Given the description of an element on the screen output the (x, y) to click on. 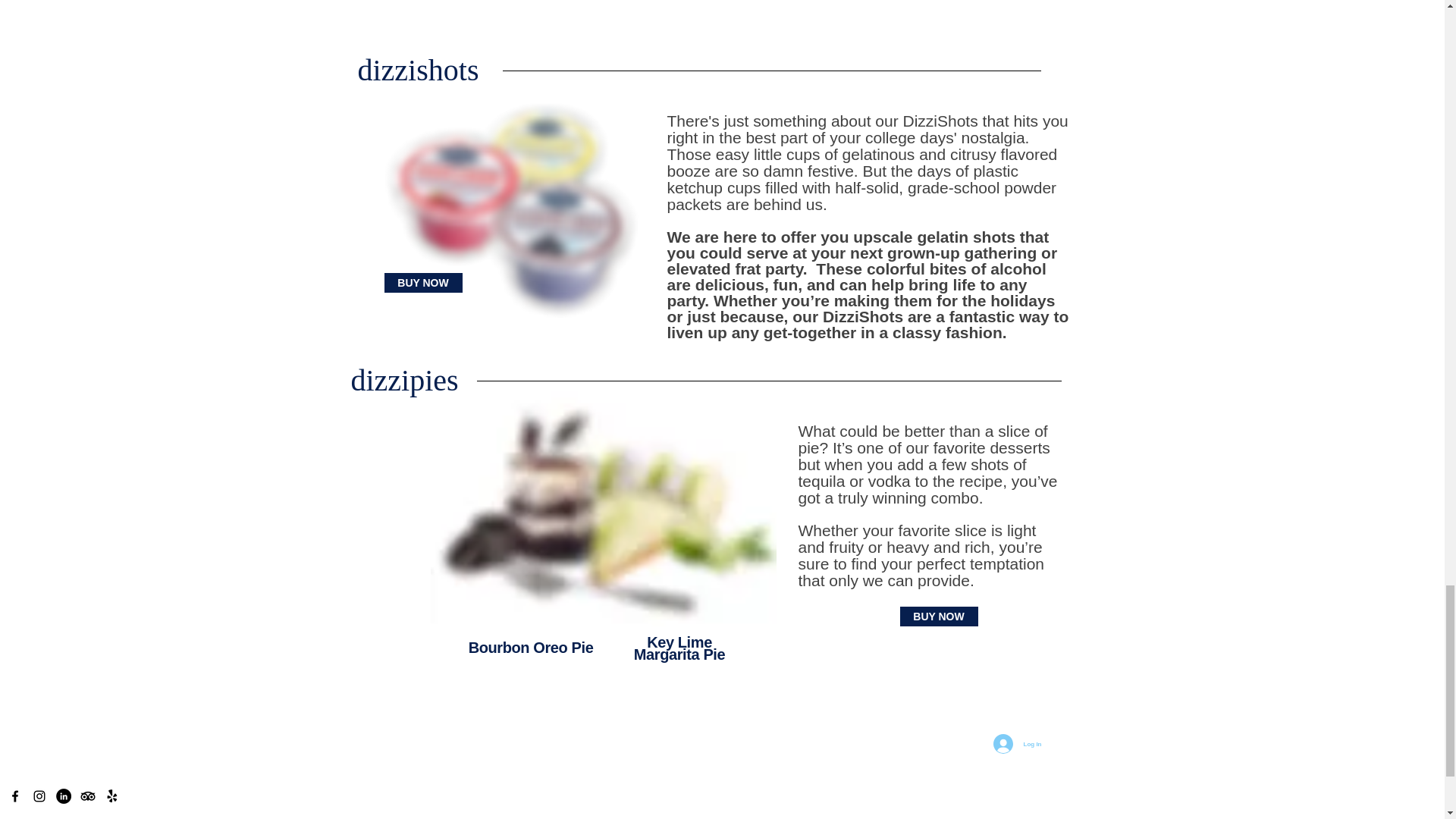
BUY NOW (422, 282)
Log In (1017, 743)
BUY NOW (938, 616)
